Given the description of an element on the screen output the (x, y) to click on. 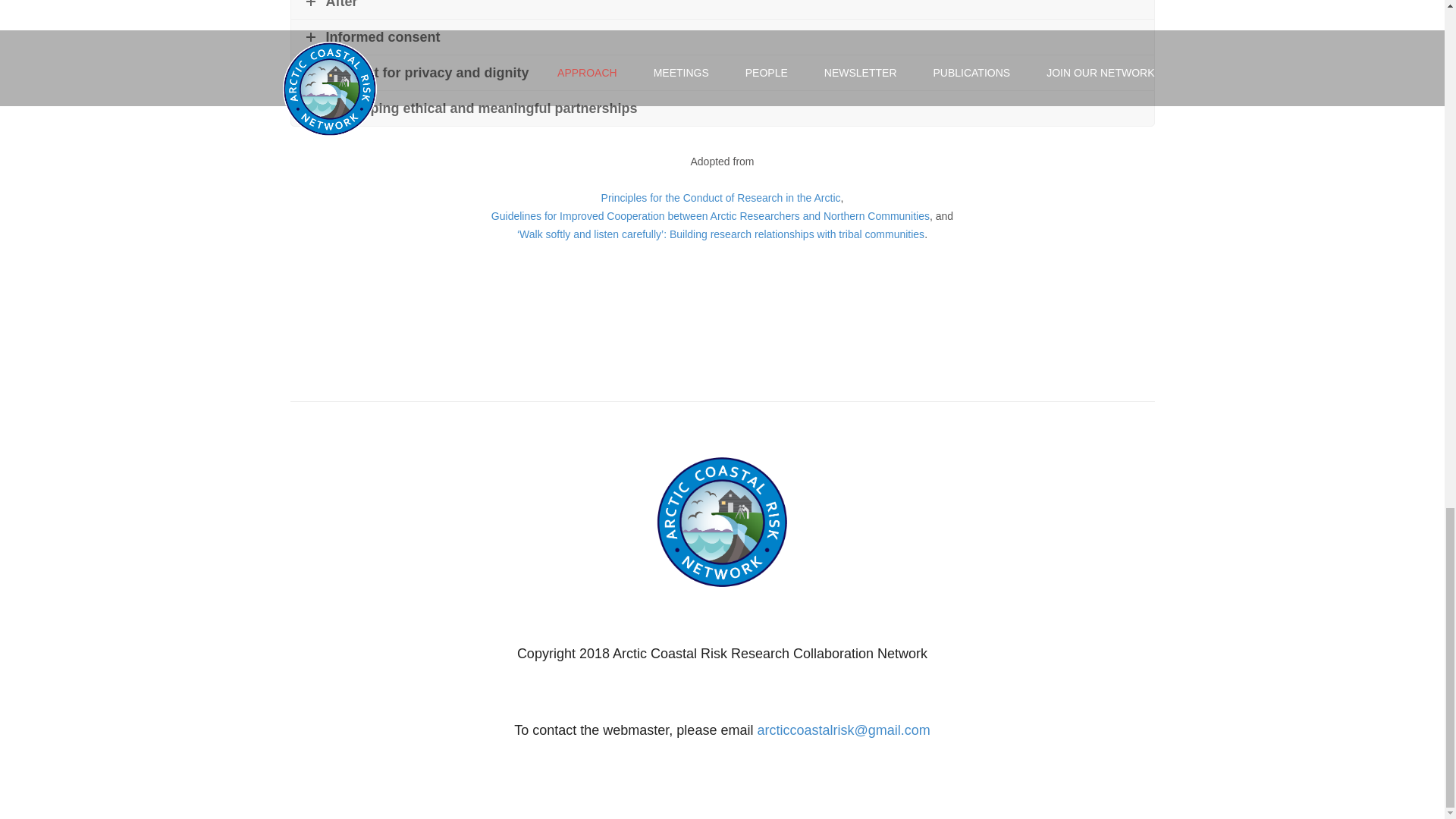
Informed consent (722, 36)
Respect for privacy and dignity (722, 72)
After (722, 9)
Principles for the Conduct of Research in the Arctic (721, 197)
Developing ethical and meaningful partnerships (722, 108)
